Given the description of an element on the screen output the (x, y) to click on. 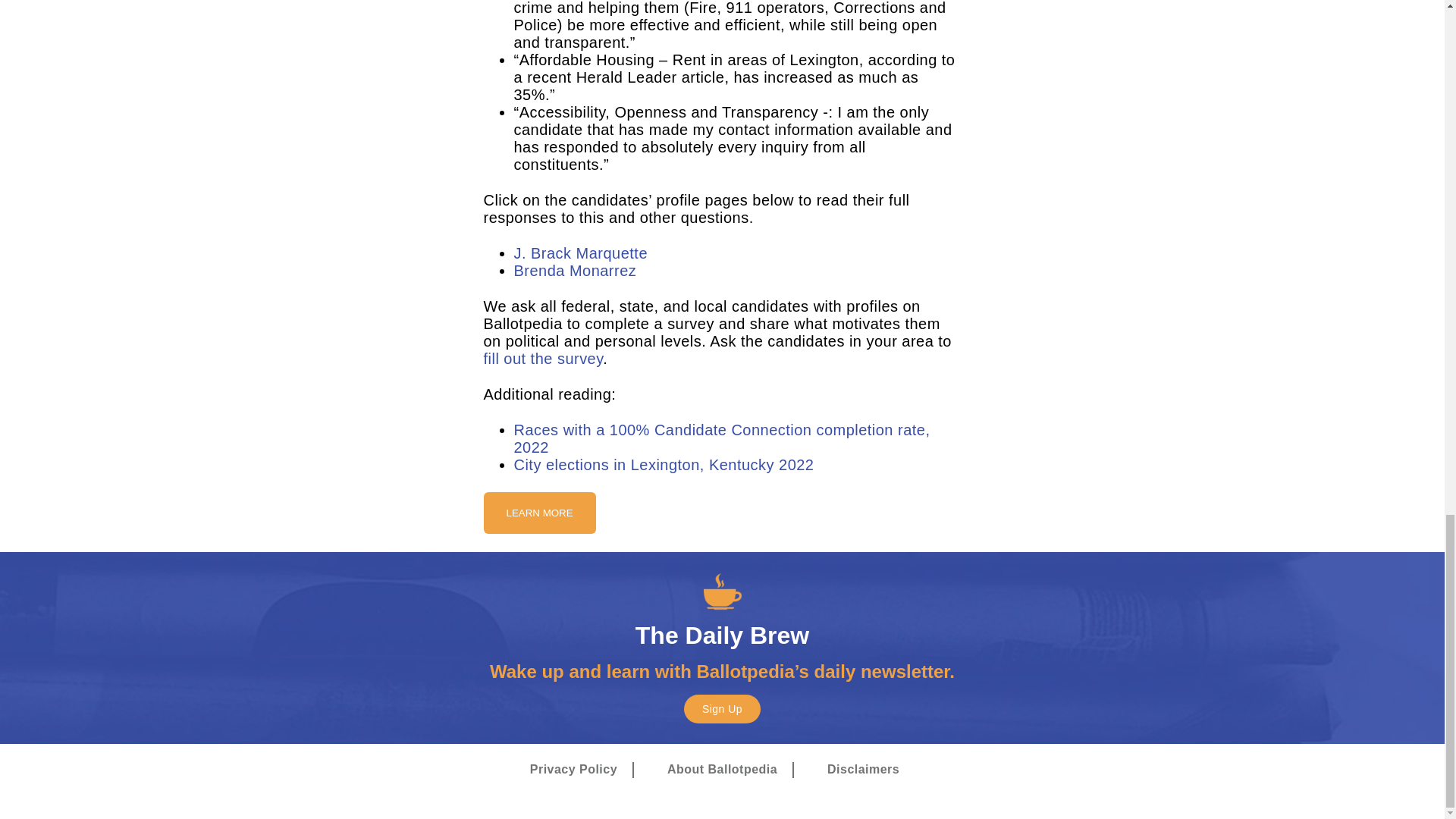
J. Brack Marquette (580, 252)
fill out the survey (543, 358)
Disclaimers (863, 770)
Brenda Monarrez (575, 270)
City elections in Lexington, Kentucky 2022 (663, 464)
Sign Up (722, 708)
About Ballotpedia (721, 770)
Privacy Policy (573, 770)
LEARN MORE (539, 512)
LEARN MORE (539, 512)
